Given the description of an element on the screen output the (x, y) to click on. 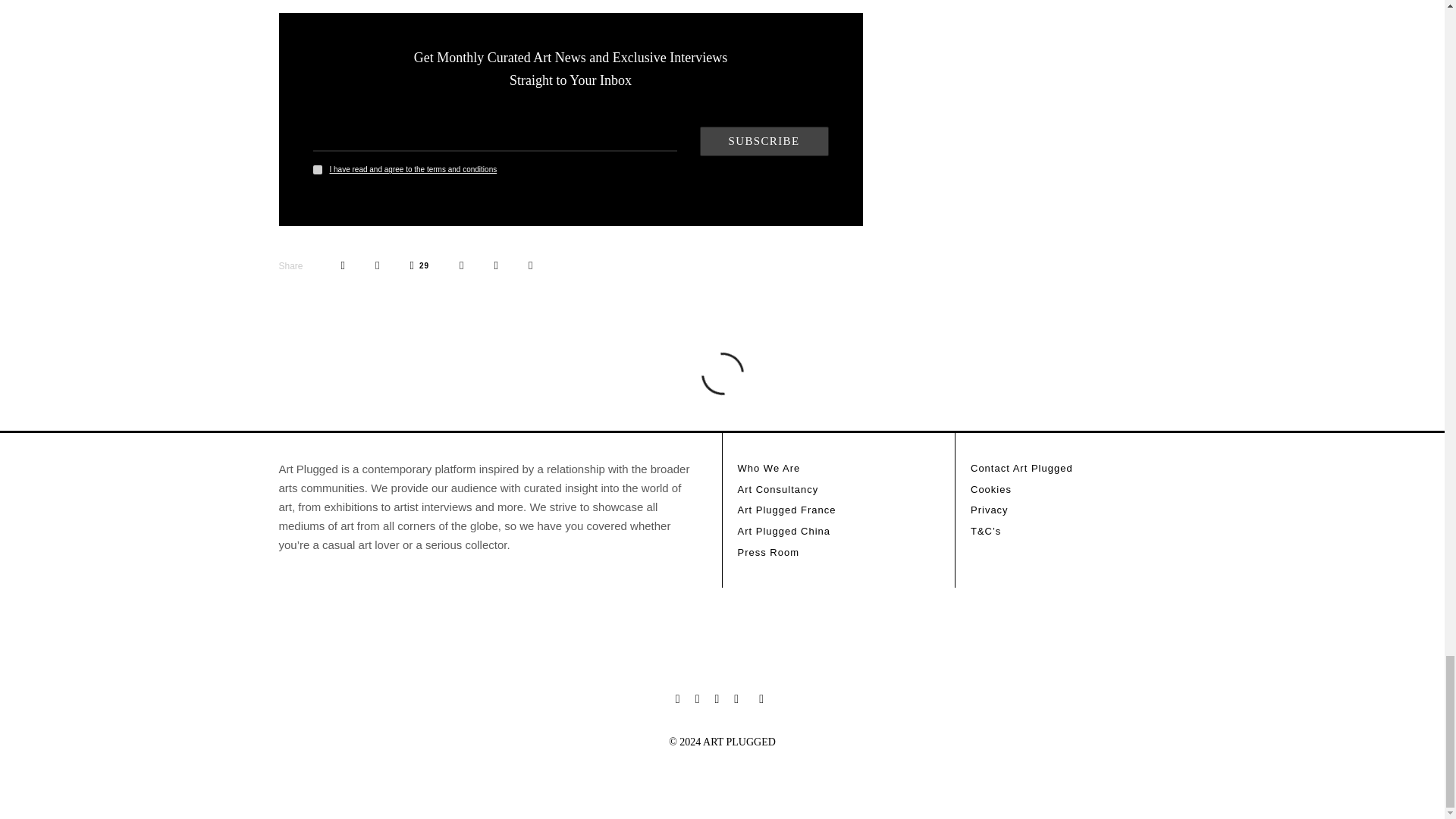
Subscribe (763, 141)
